Given the description of an element on the screen output the (x, y) to click on. 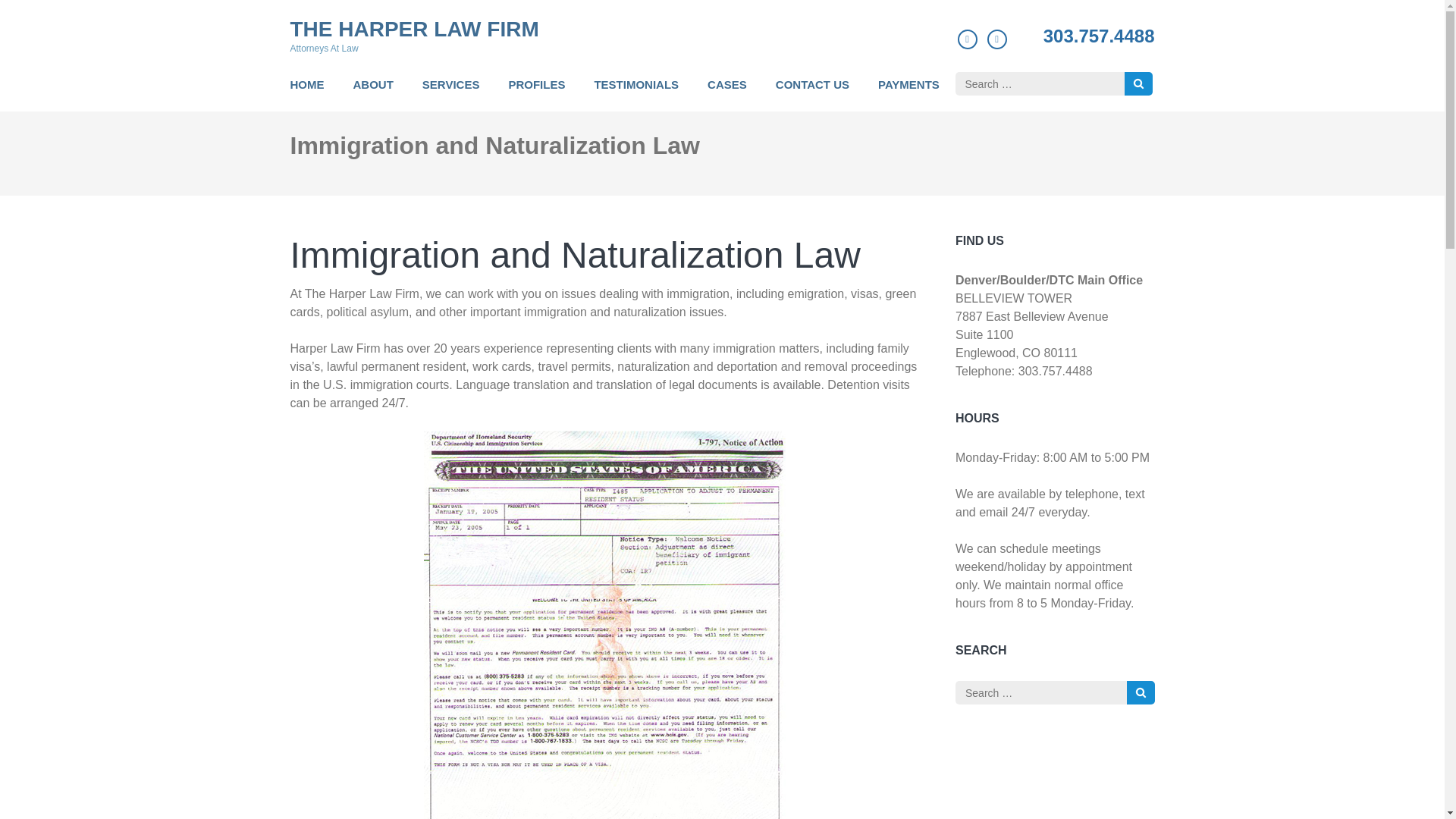
303.757.4488 (1098, 36)
PAYMENTS (908, 93)
Facebook (967, 38)
THE HARPER LAW FIRM (413, 28)
PROFILES (536, 93)
Search (1140, 692)
SERVICES (451, 93)
CONTACT US (812, 93)
Search (1137, 83)
Search (1137, 83)
CASES (726, 93)
Search (1140, 692)
TESTIMONIALS (636, 93)
HOME (306, 93)
Twitter (997, 38)
